Given the description of an element on the screen output the (x, y) to click on. 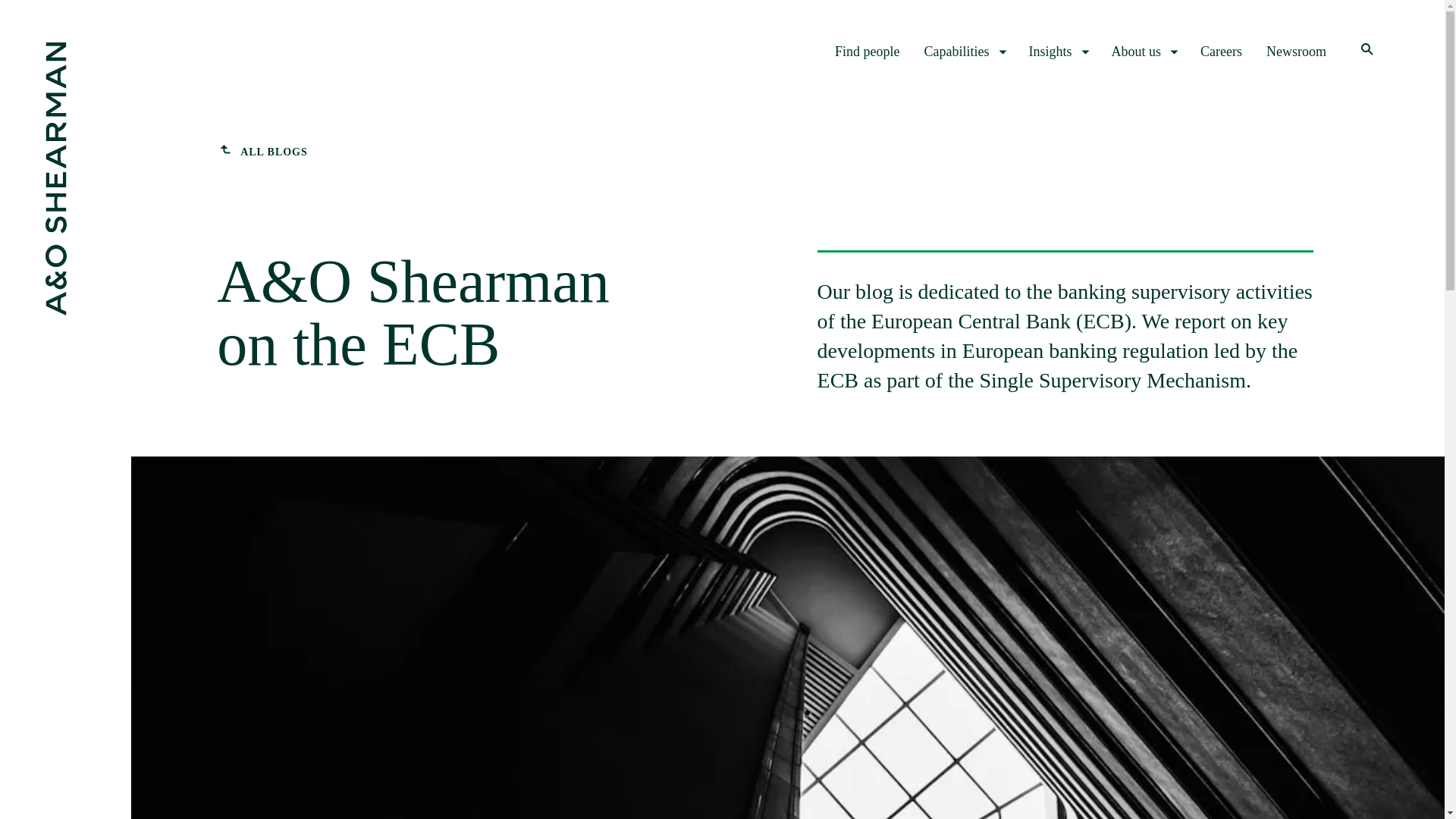
Insights (1056, 51)
Newsroom (1296, 51)
About us (1144, 51)
Find people (866, 51)
ALL BLOGS (261, 152)
Capabilities (964, 51)
Careers (1220, 51)
